Given the description of an element on the screen output the (x, y) to click on. 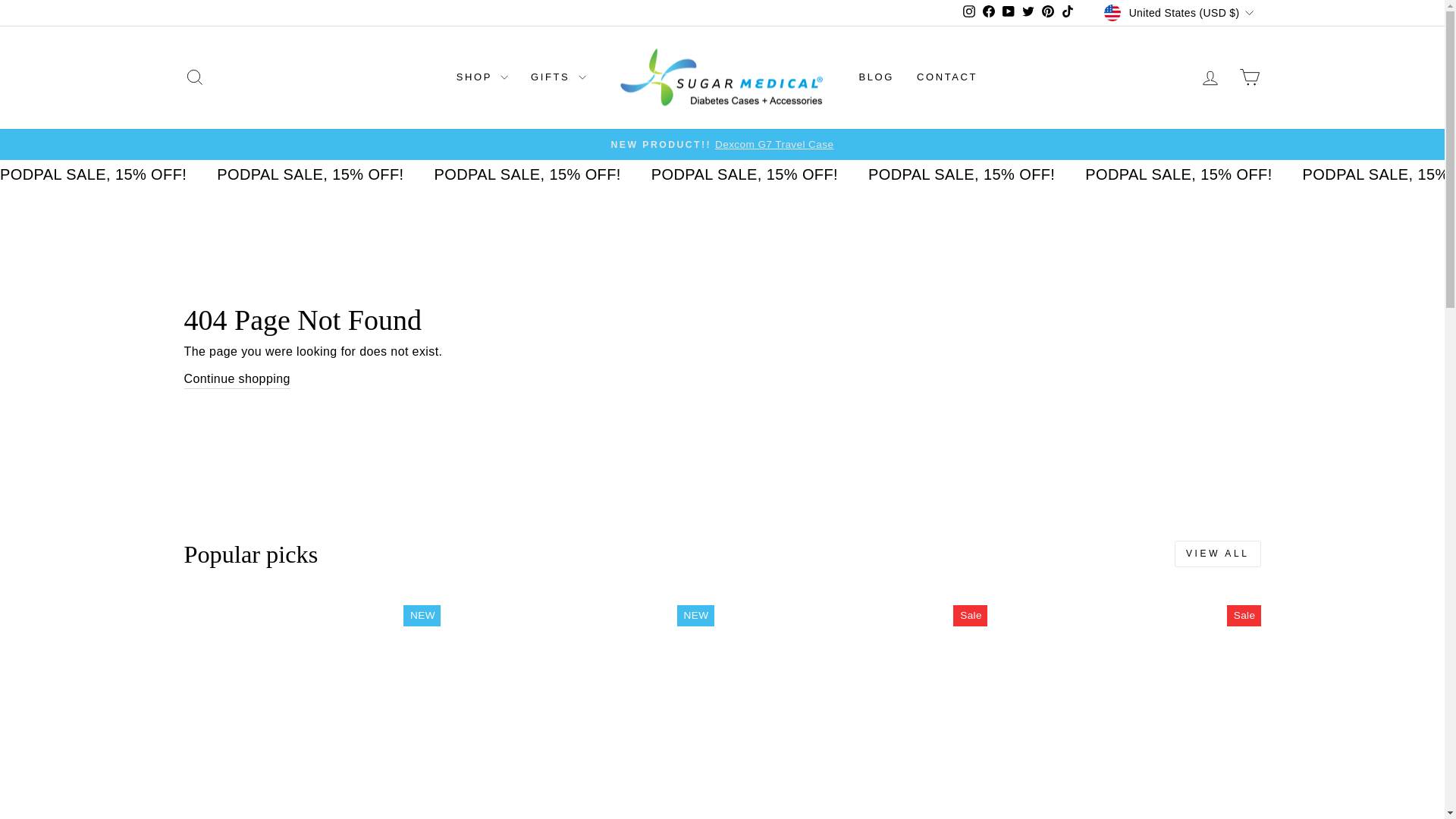
twitter (1027, 10)
ICON-SEARCH (194, 76)
ACCOUNT (1210, 77)
instagram (968, 10)
